Given the description of an element on the screen output the (x, y) to click on. 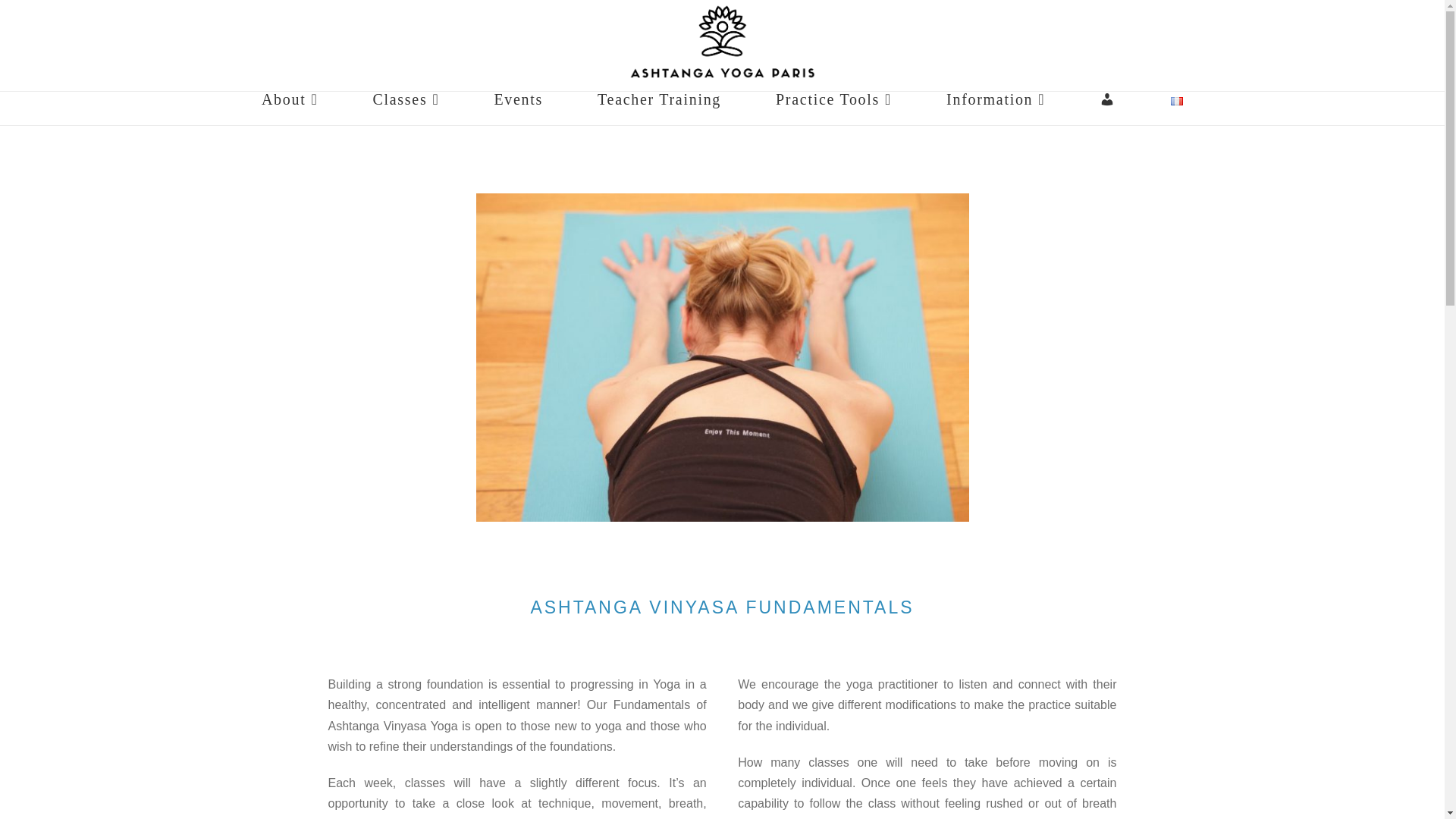
Information (994, 108)
Events (517, 108)
Classes (405, 108)
My Account (1106, 108)
My Account (1106, 108)
Teacher Training (659, 108)
Practice Tools (833, 108)
About (290, 108)
